Given the description of an element on the screen output the (x, y) to click on. 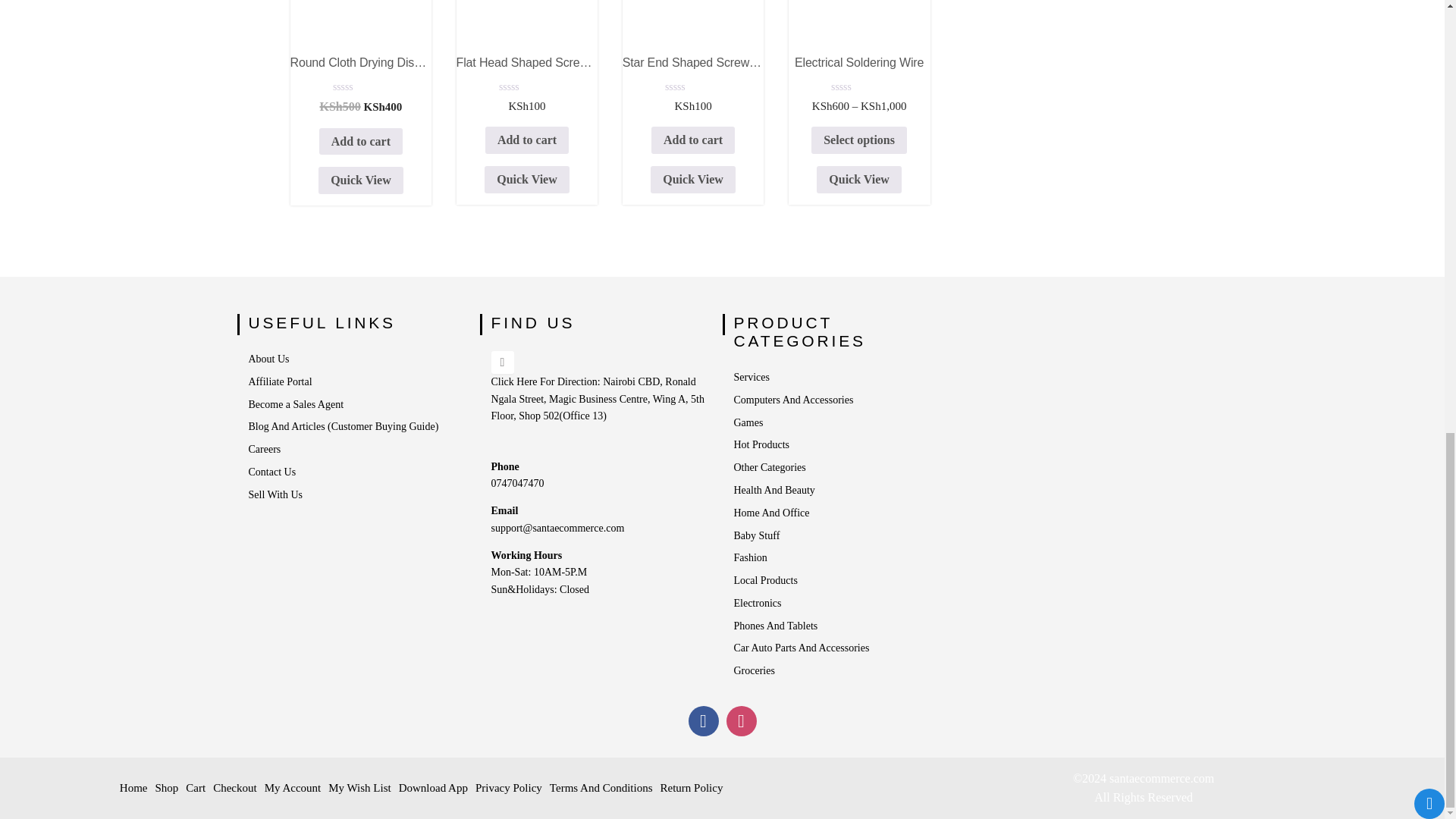
Add to cart (693, 73)
Add to cart (526, 139)
Facebook (692, 139)
Add to cart (703, 720)
Quick View (360, 141)
Quick View (360, 180)
Instagram (527, 73)
Quick View (692, 179)
